Given the description of an element on the screen output the (x, y) to click on. 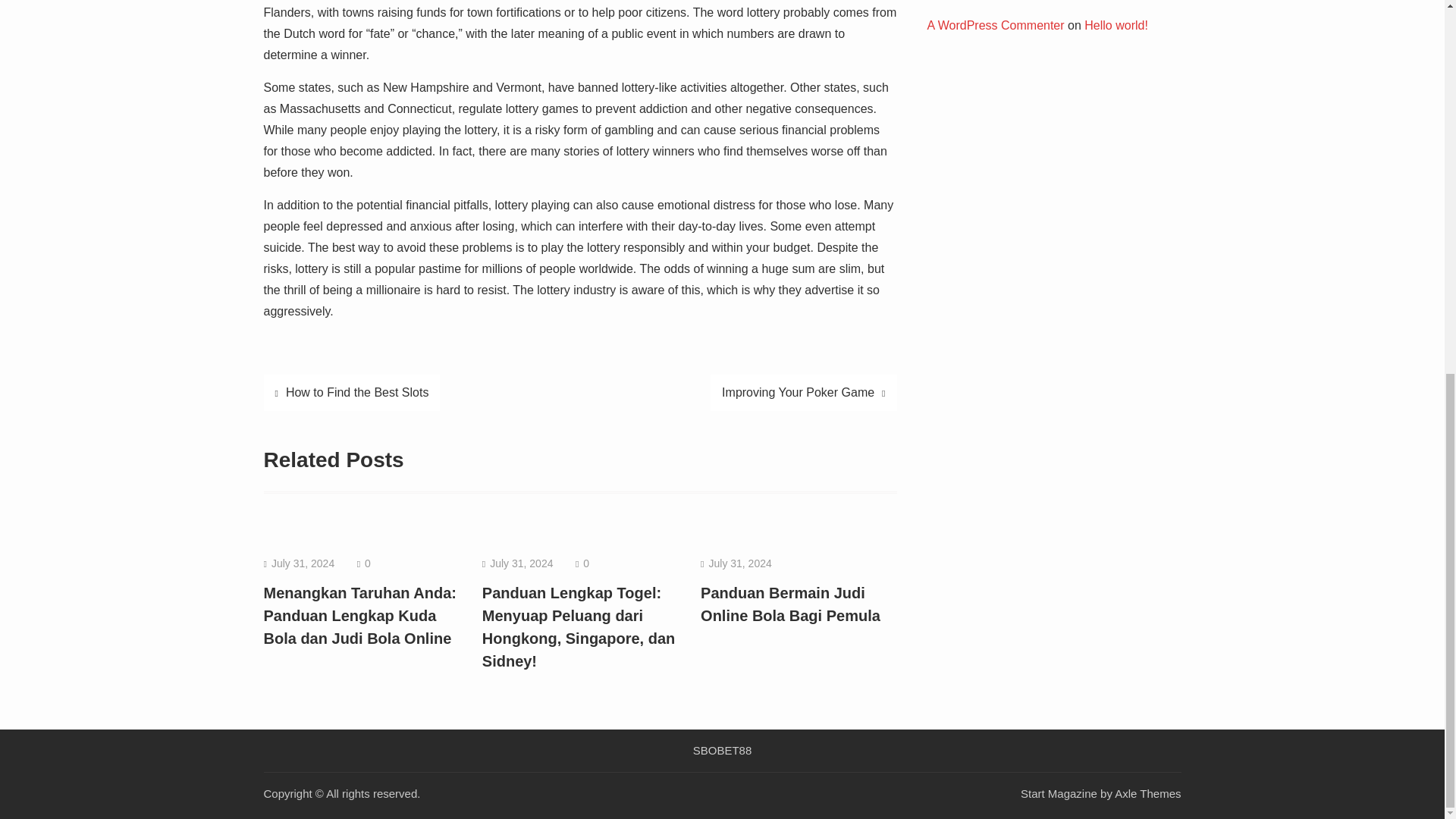
Panduan Bermain Judi Online Bola Bagi Pemula (790, 604)
Improving Your Poker Game (803, 392)
How to Find the Best Slots (352, 392)
A WordPress Commenter (995, 24)
Axle Themes (1147, 793)
Hello world! (1116, 24)
SBOBET88 (722, 750)
